Given the description of an element on the screen output the (x, y) to click on. 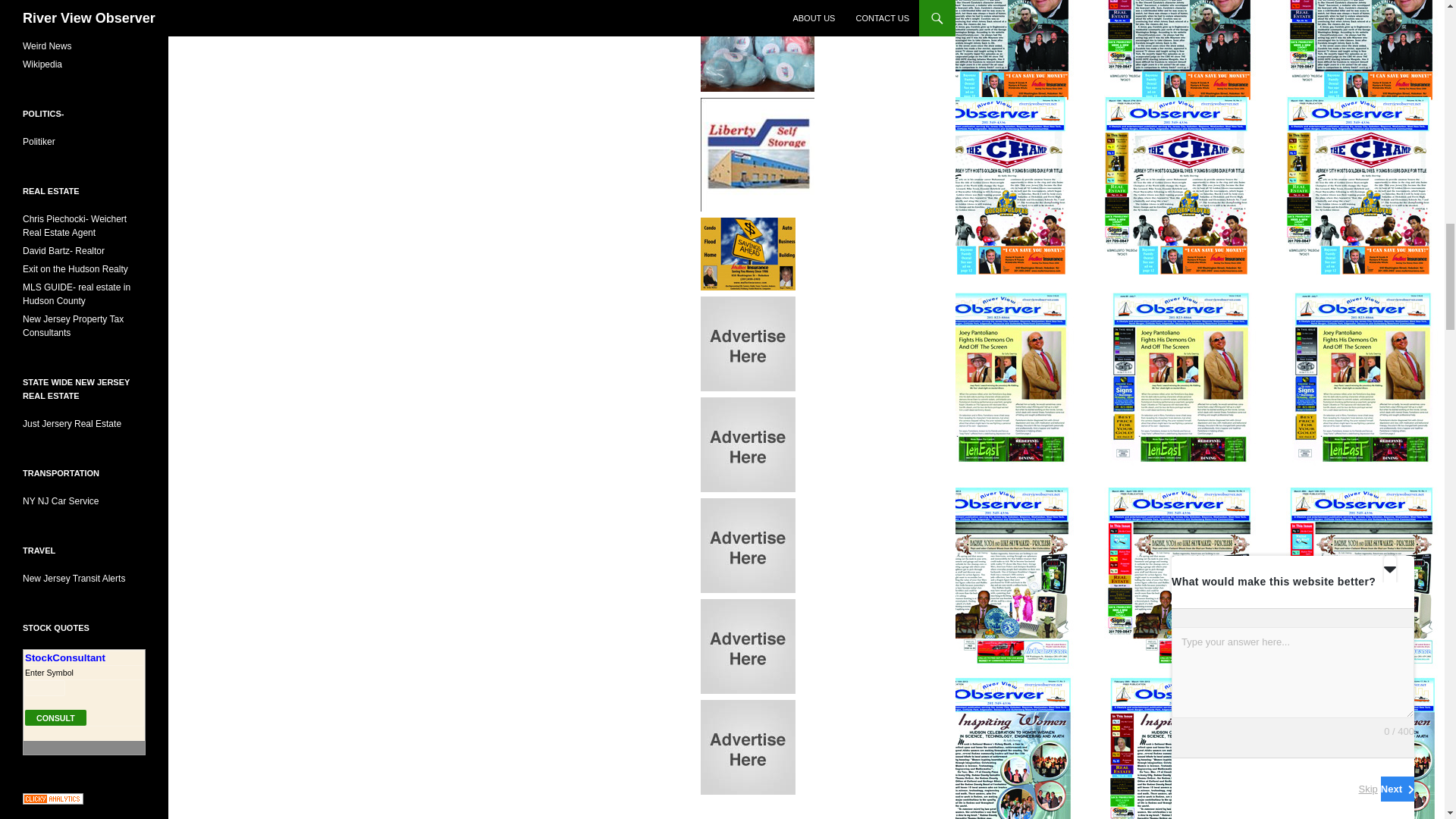
Maple Magic Confectionery (756, 33)
Consult (54, 717)
Liberty Self Storage Jersey City (756, 152)
Muller Insurance (747, 252)
